Given the description of an element on the screen output the (x, y) to click on. 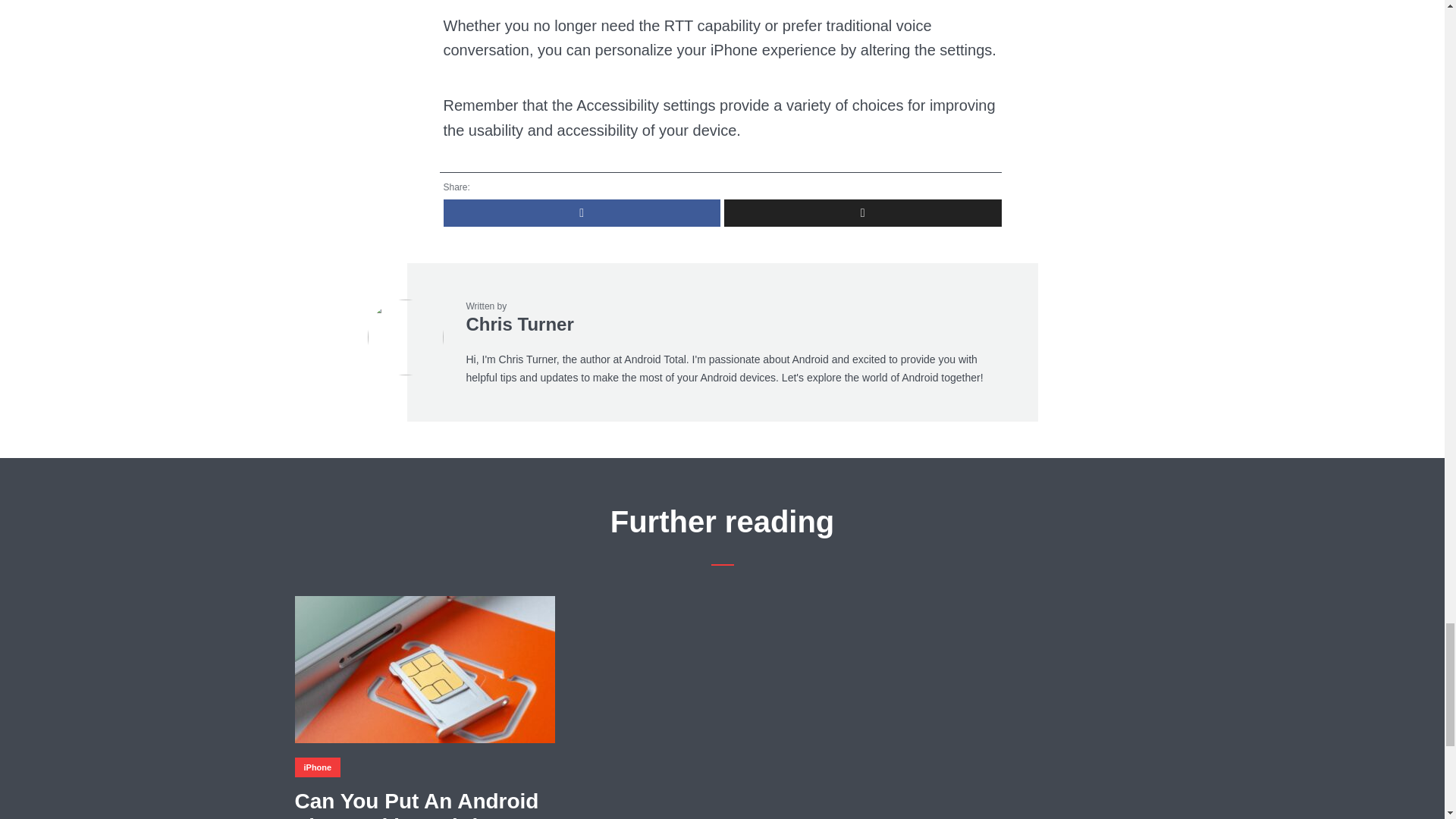
Chris Turner (519, 323)
Can You Put An Android Sim Card in An iPhone? (424, 803)
iPhone (317, 767)
